Given the description of an element on the screen output the (x, y) to click on. 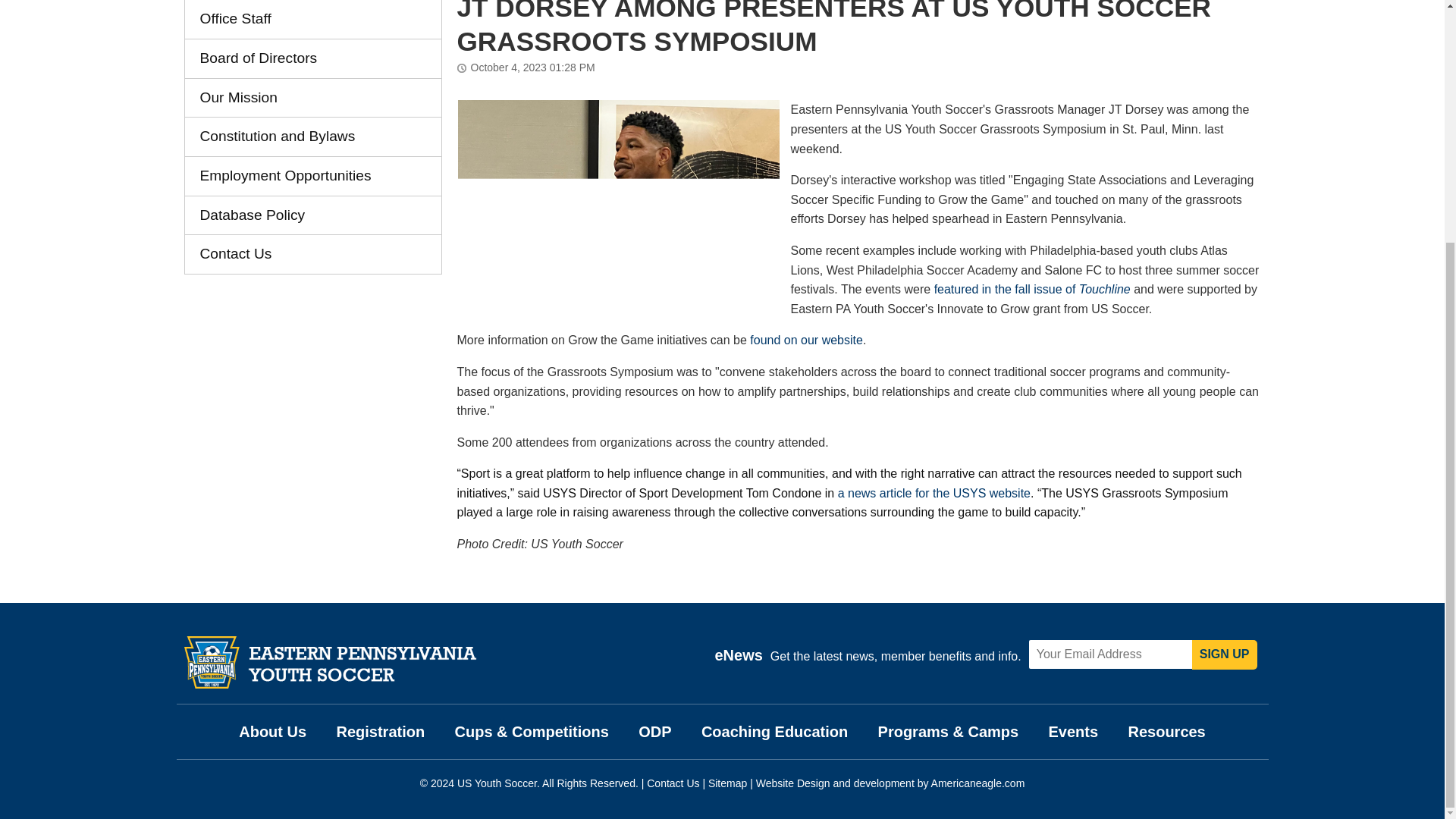
Sign Up (1224, 654)
